Given the description of an element on the screen output the (x, y) to click on. 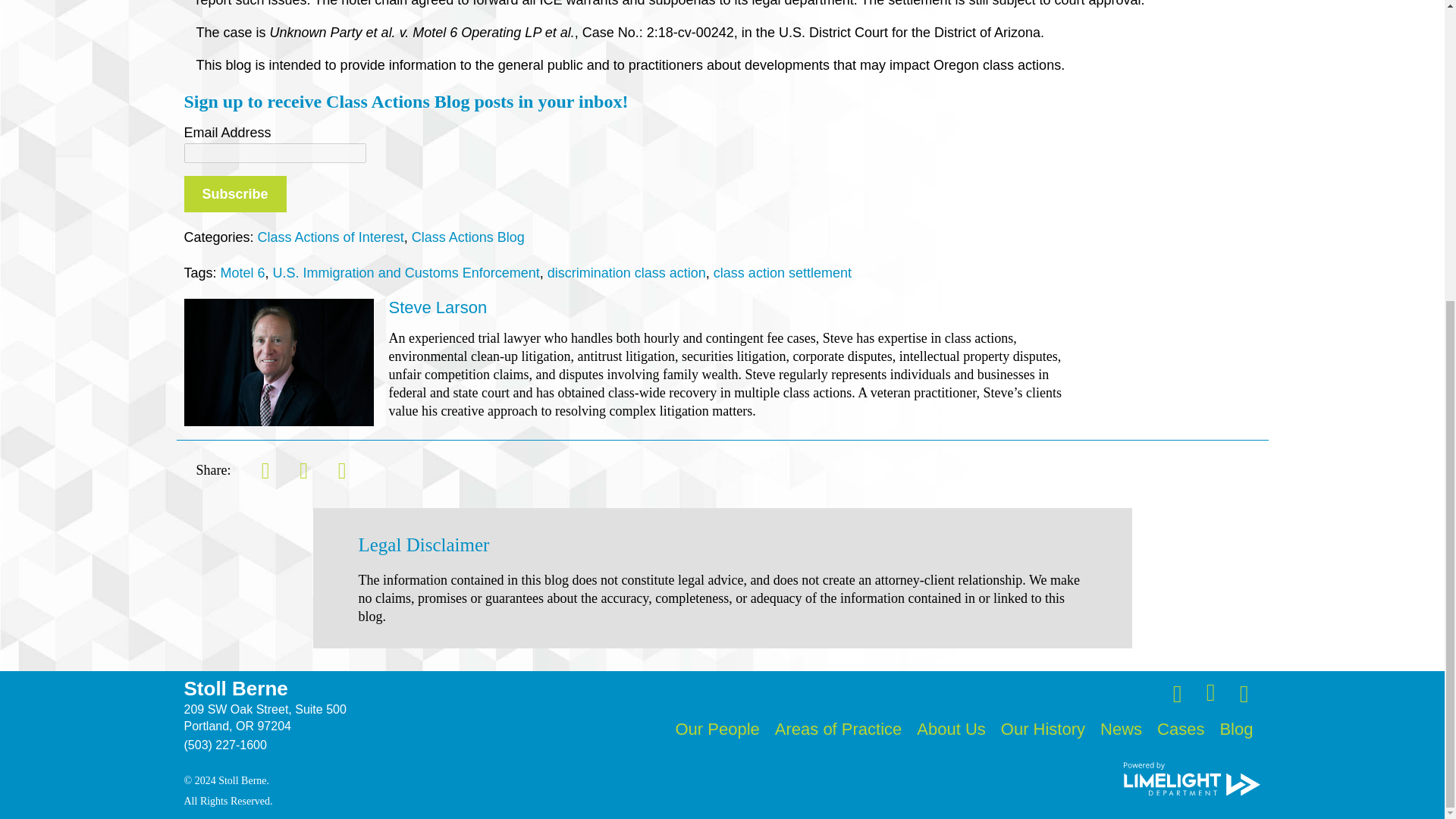
Subscribe (234, 194)
